Given the description of an element on the screen output the (x, y) to click on. 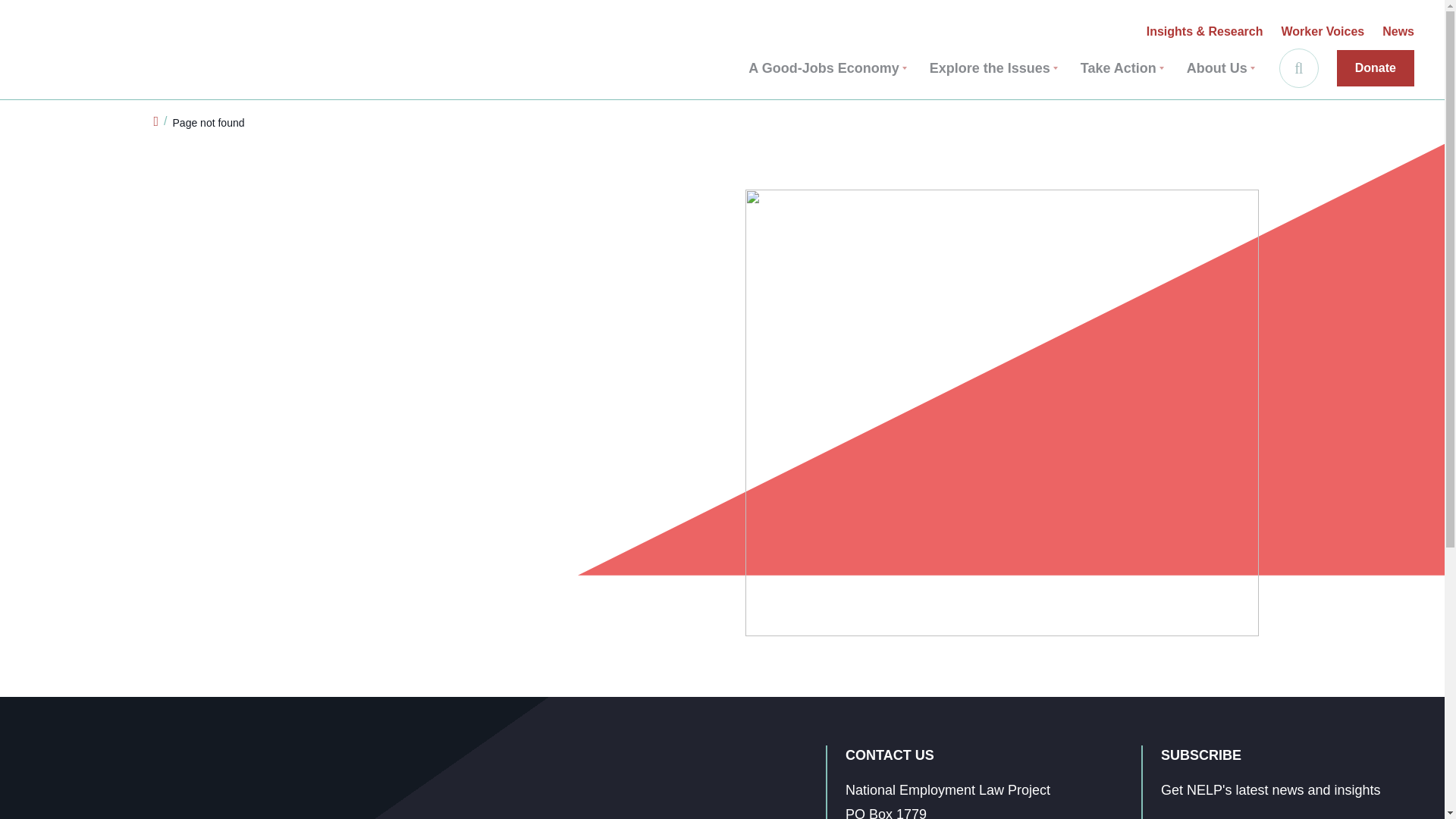
Take Action (1121, 68)
Worker Voices (1323, 31)
Donate (1374, 67)
News (1397, 31)
Explore the Issues (994, 68)
A Good-Jobs Economy (826, 68)
About Us (1220, 68)
Skip to main content (21, 15)
